Given the description of an element on the screen output the (x, y) to click on. 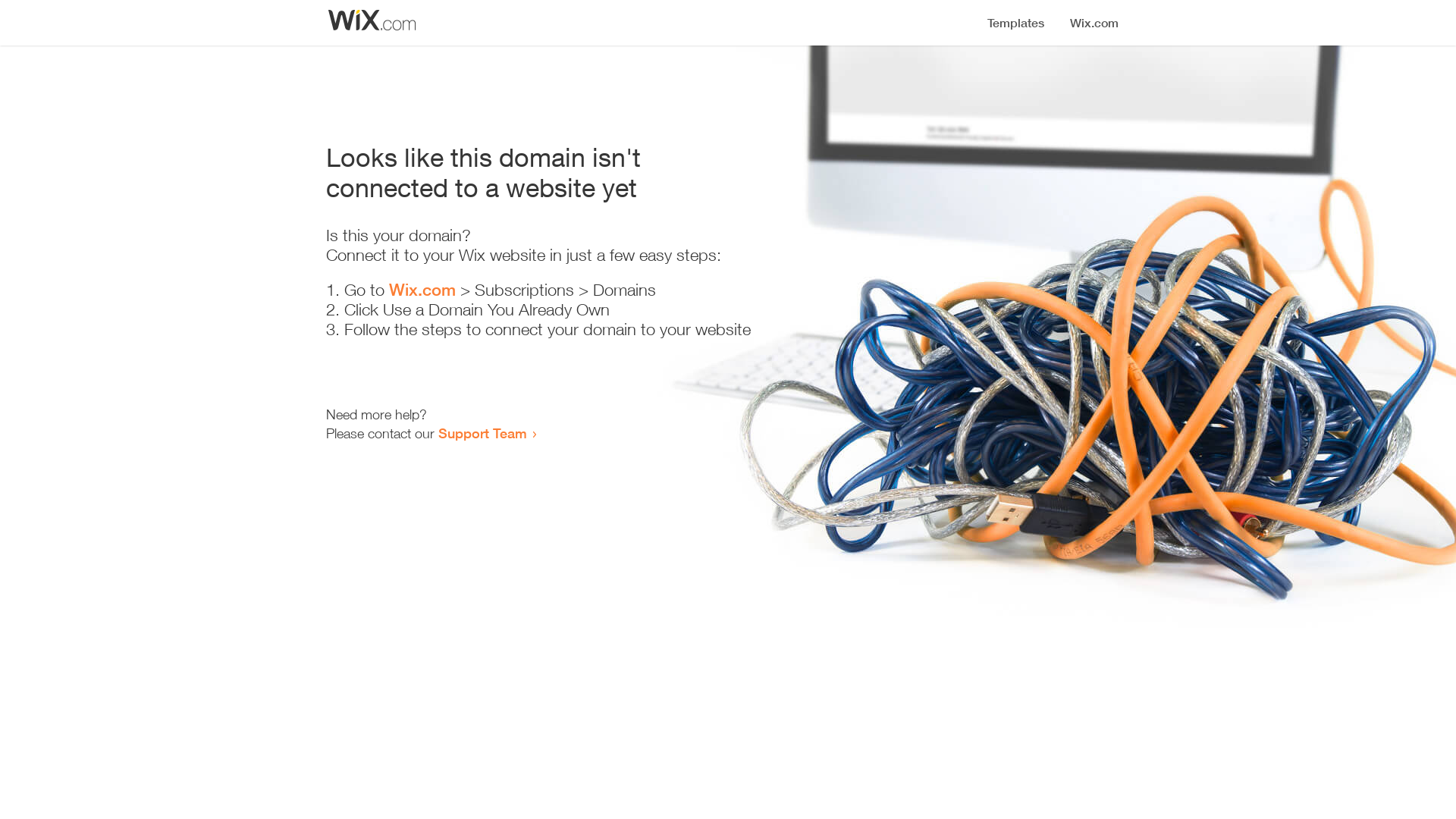
Support Team Element type: text (482, 432)
Wix.com Element type: text (422, 289)
